Given the description of an element on the screen output the (x, y) to click on. 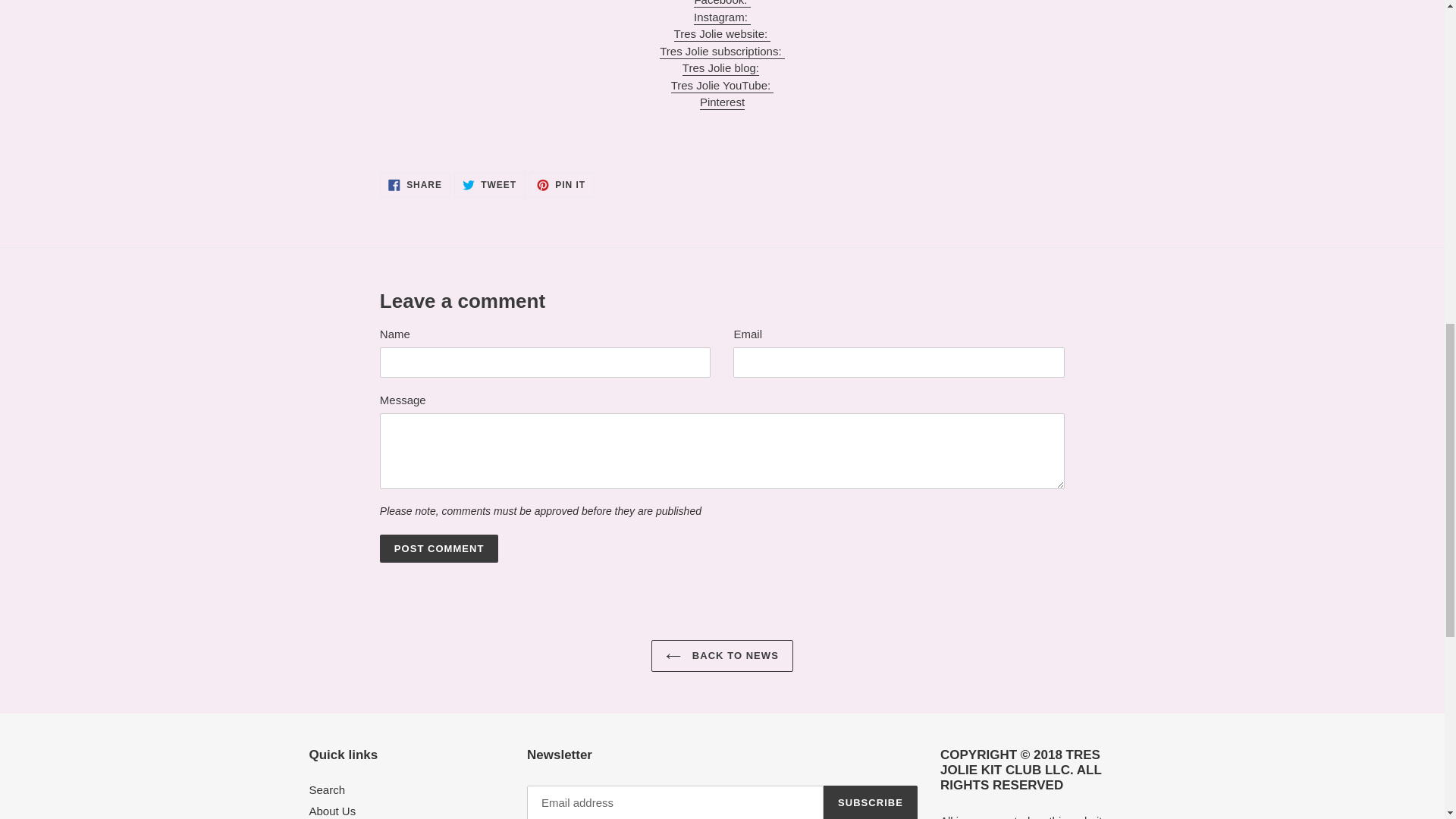
Post comment (439, 548)
Tres Jolie Blog (720, 68)
subscriptions (721, 51)
Tres Jolie Facebook page (721, 3)
Tres Jolie Youtube channel (722, 85)
